Given the description of an element on the screen output the (x, y) to click on. 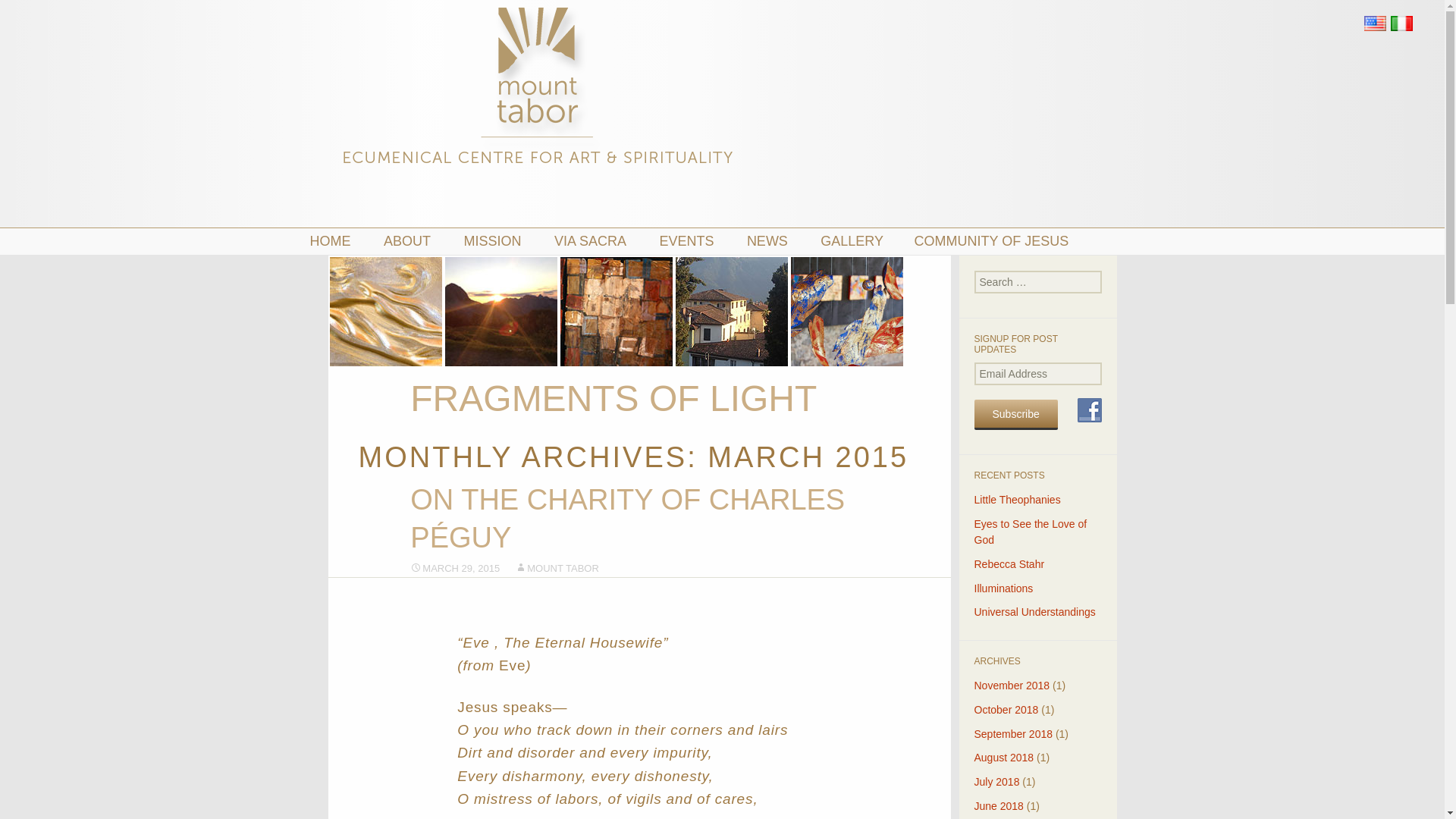
ABOUT (413, 241)
Subscribe (1015, 414)
English (1375, 23)
View all posts by Mount Tabor (556, 568)
June 2018 (998, 806)
Universal Understandings (1034, 612)
November 2018 (1011, 685)
September 2018 (1013, 734)
Little Theophanies (1016, 499)
HOME (336, 241)
Follow Us on Facebook (1088, 410)
VIA SACRA (596, 241)
MOUNT TABOR (556, 568)
August 2018 (1003, 757)
